Given the description of an element on the screen output the (x, y) to click on. 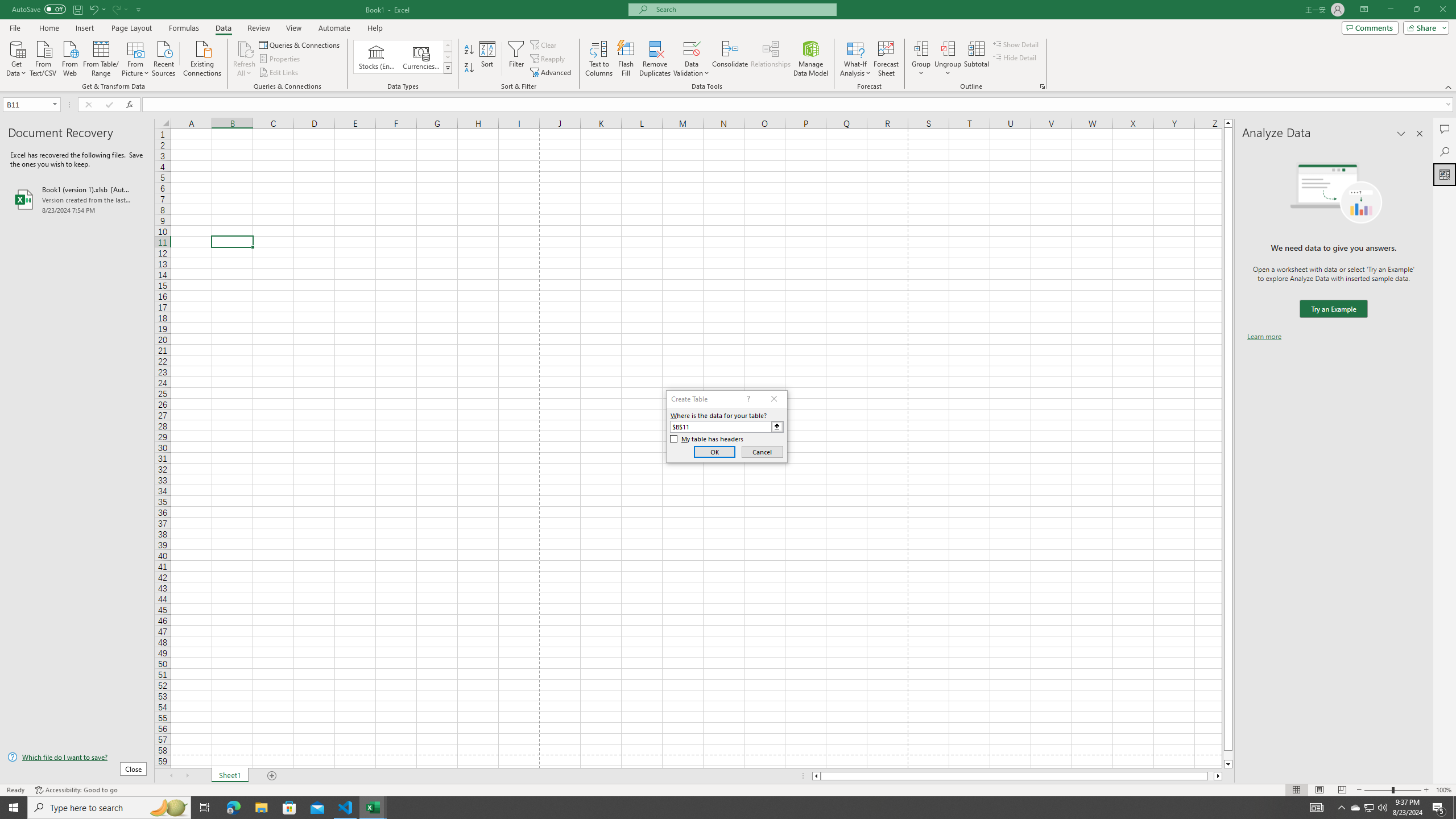
Refresh All (244, 48)
Show Detail (1016, 44)
Data Validation... (691, 58)
Task Pane Options (1400, 133)
Relationships (770, 58)
Subtotal (976, 58)
Restore Down (1416, 9)
Search (1444, 151)
Consolidate... (729, 58)
